Given the description of an element on the screen output the (x, y) to click on. 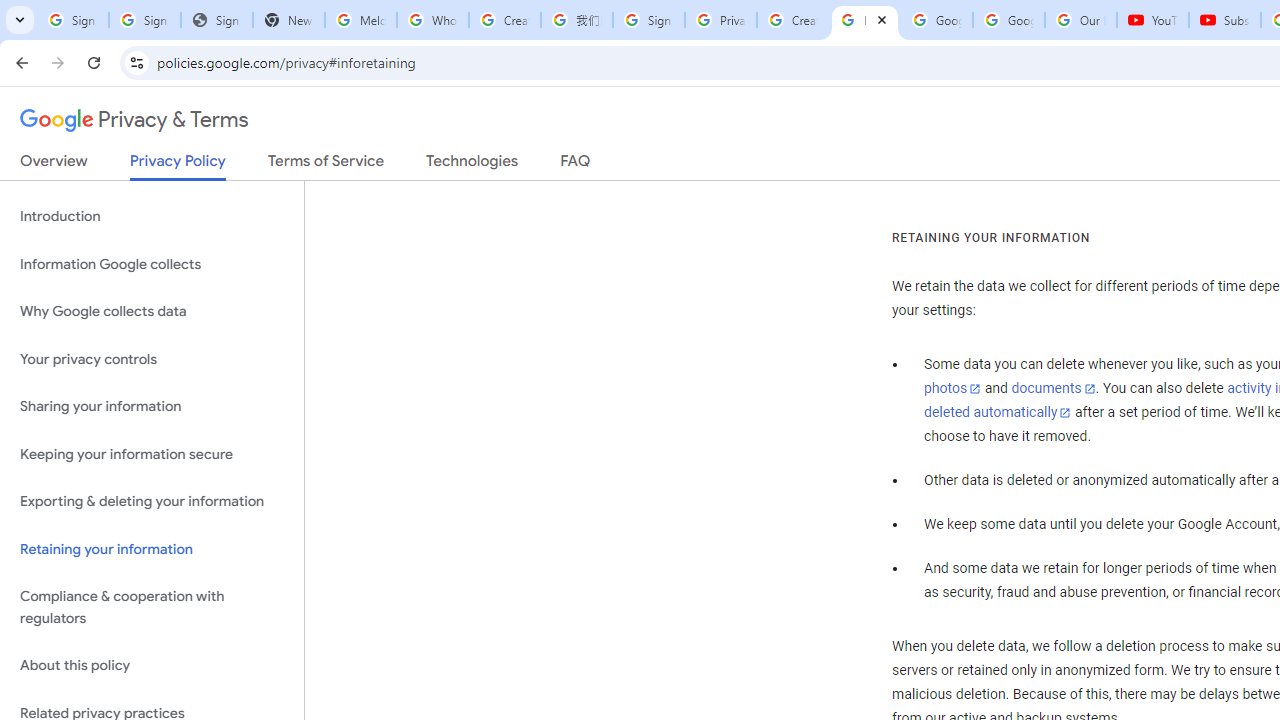
Compliance & cooperation with regulators (152, 607)
Sharing your information (152, 407)
Keeping your information secure (152, 453)
Information Google collects (152, 263)
Privacy Policy (177, 166)
Privacy & Terms (134, 120)
New Tab (289, 20)
About this policy (152, 666)
Why Google collects data (152, 312)
Overview (54, 165)
